Given the description of an element on the screen output the (x, y) to click on. 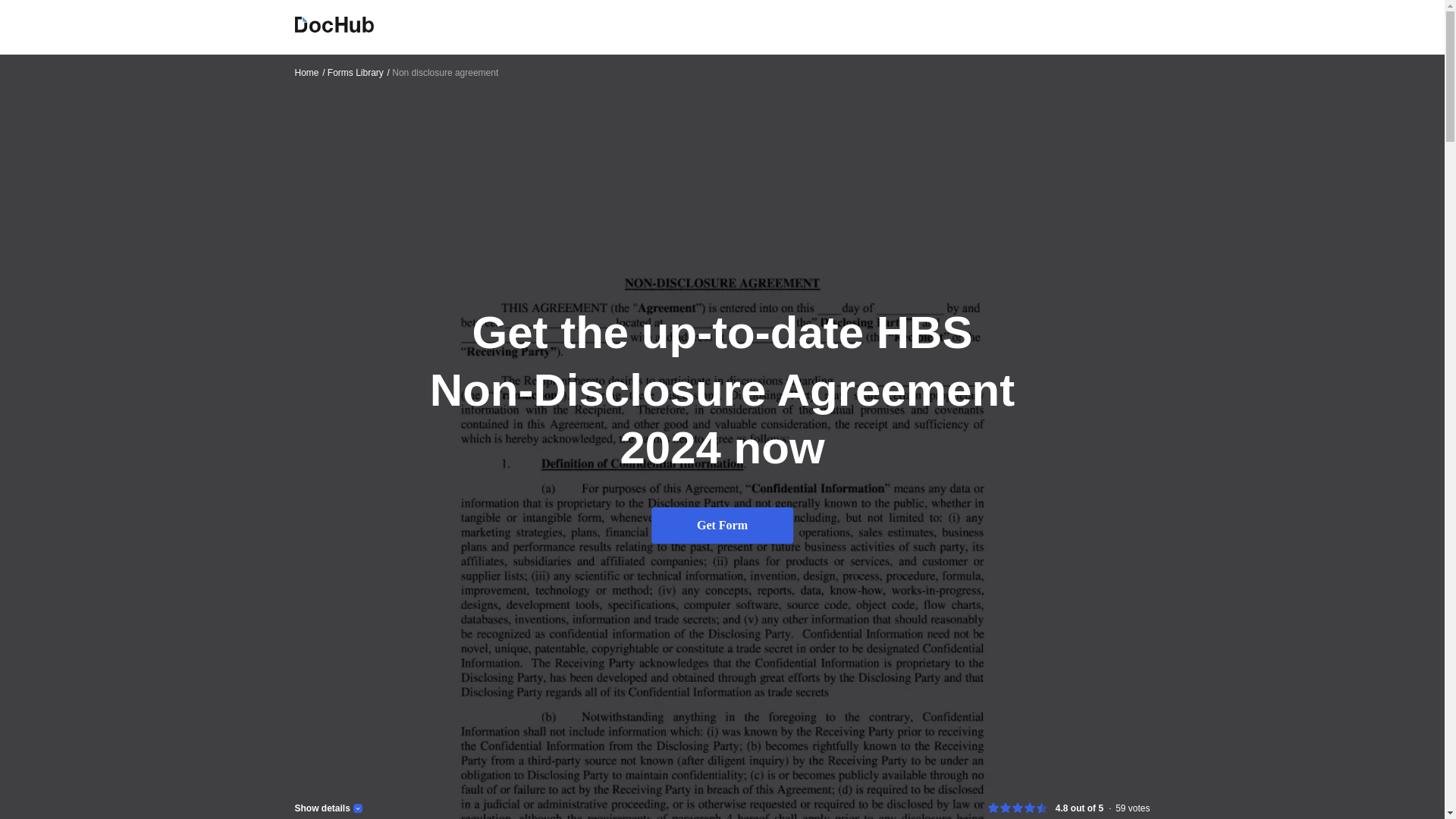
Forms Library (358, 72)
Home (309, 72)
